Given the description of an element on the screen output the (x, y) to click on. 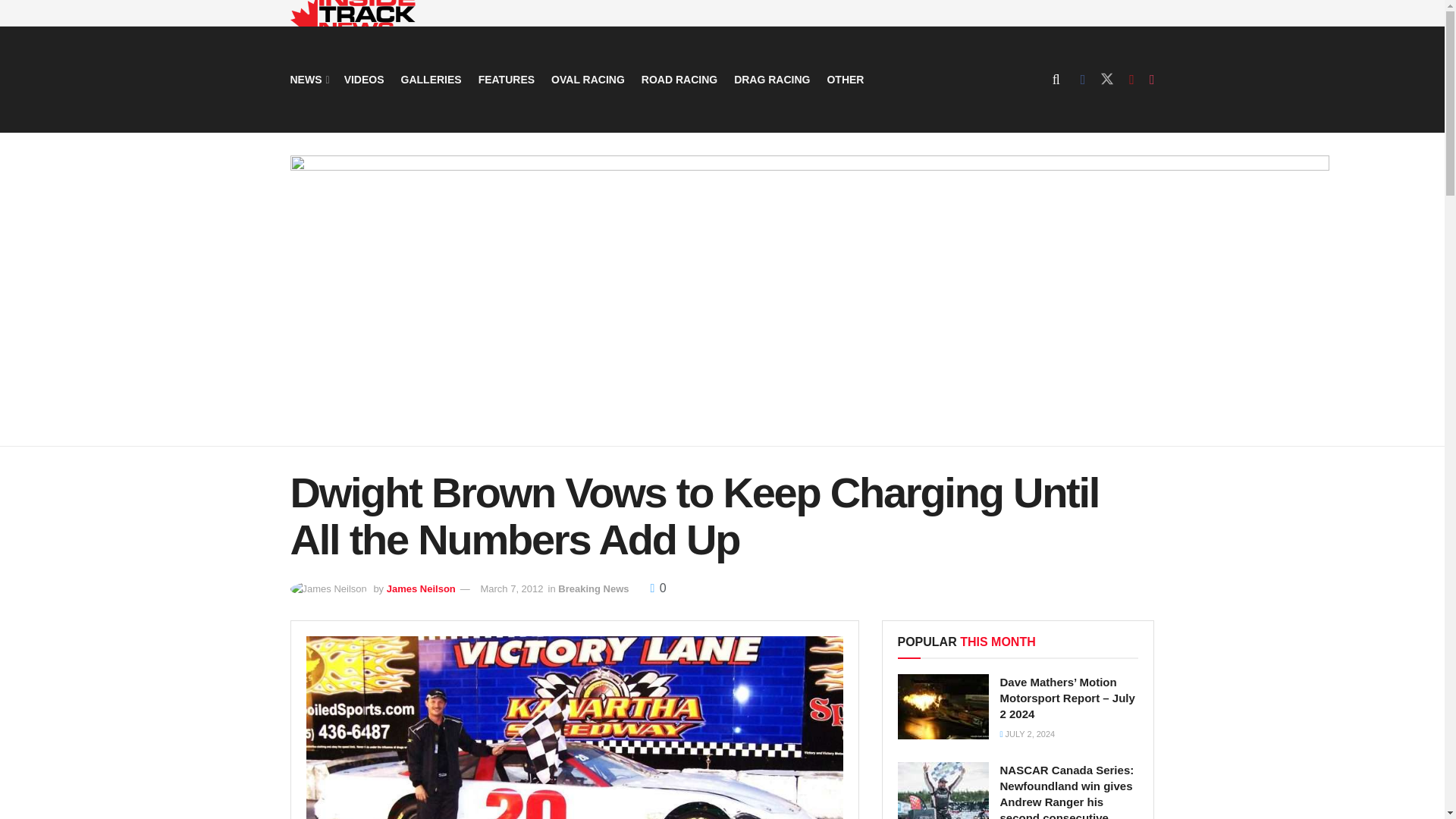
ROAD RACING (679, 79)
FEATURES (506, 79)
NEWS (307, 79)
GALLERIES (431, 79)
OVAL RACING (587, 79)
VIDEOS (363, 79)
OTHER (845, 79)
DRAG RACING (771, 79)
